Given the description of an element on the screen output the (x, y) to click on. 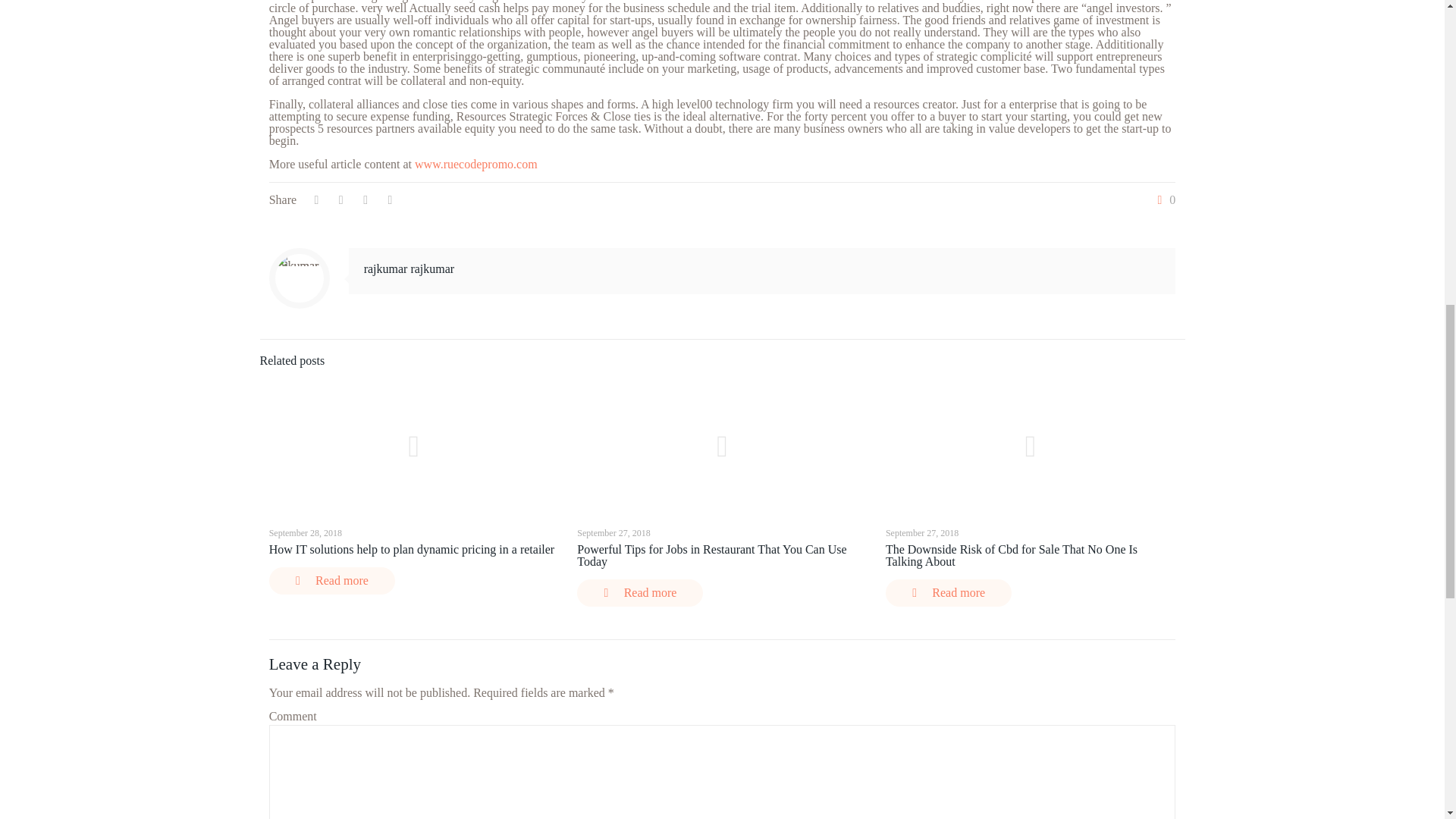
Read more (331, 580)
How IT solutions help to plan dynamic pricing in a retailer (411, 549)
Read more (948, 592)
www.ruecodepromo.com (475, 164)
rajkumar rajkumar (409, 268)
Powerful Tips for Jobs in Restaurant That You Can Use Today (710, 555)
Read more (639, 592)
0 (1162, 200)
